Given the description of an element on the screen output the (x, y) to click on. 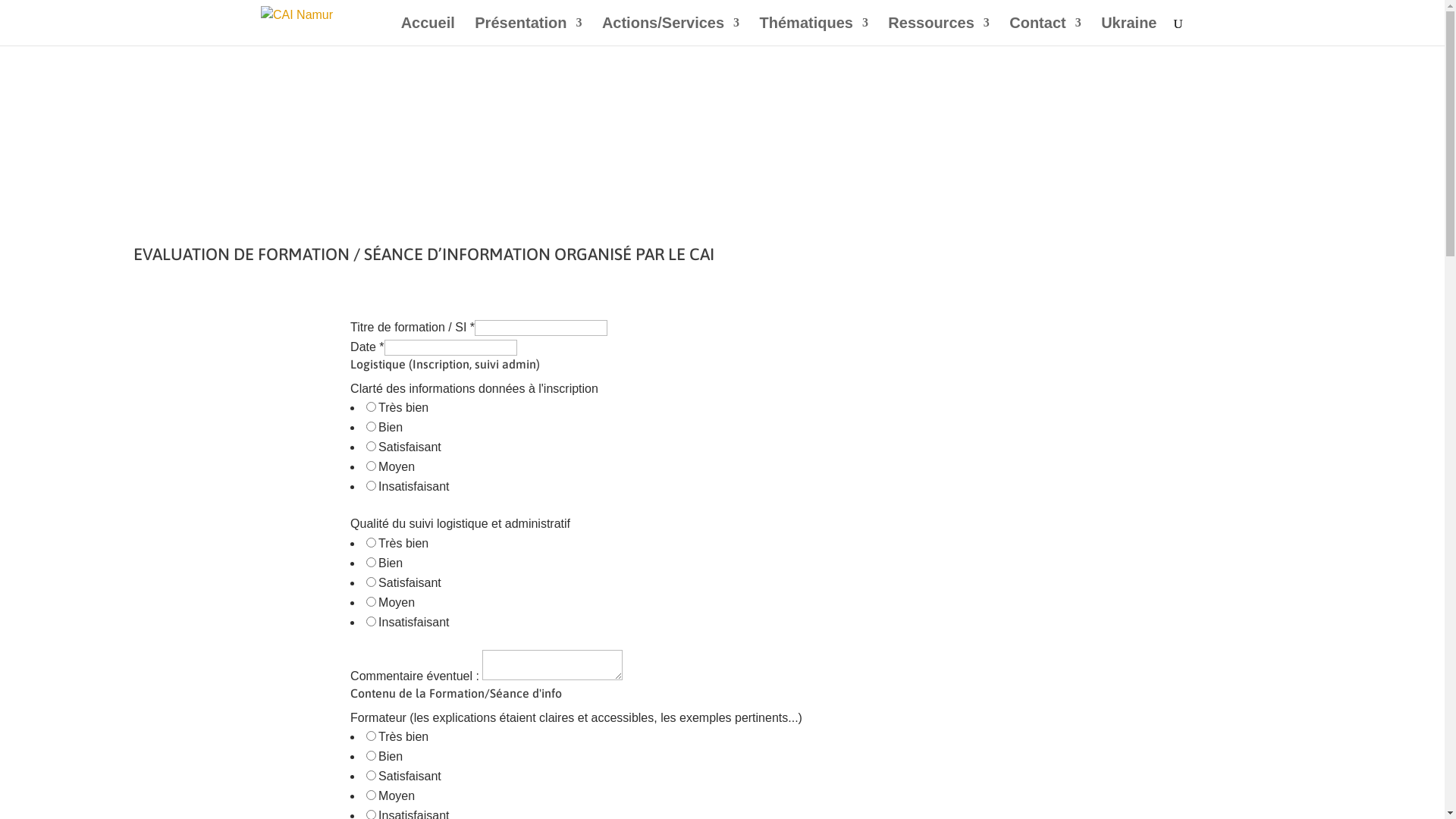
Ukraine Element type: text (1128, 31)
Accueil Element type: text (428, 31)
Contact Element type: text (1044, 31)
Ressources Element type: text (938, 31)
Actions/Services Element type: text (670, 31)
